Given the description of an element on the screen output the (x, y) to click on. 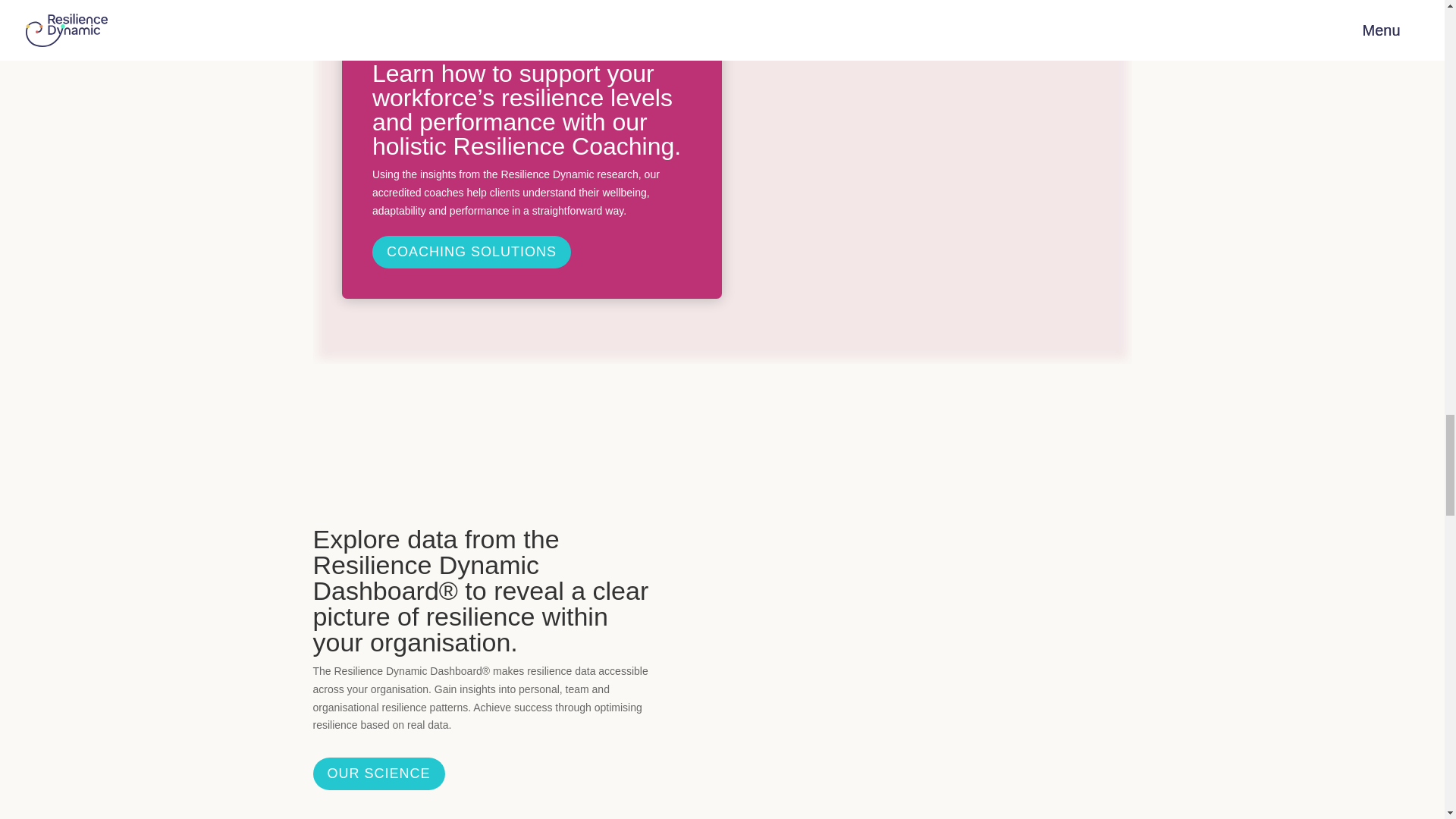
Laptop-Visuals-HOME (803, 13)
Home-GraphicMOB (926, 167)
